Given the description of an element on the screen output the (x, y) to click on. 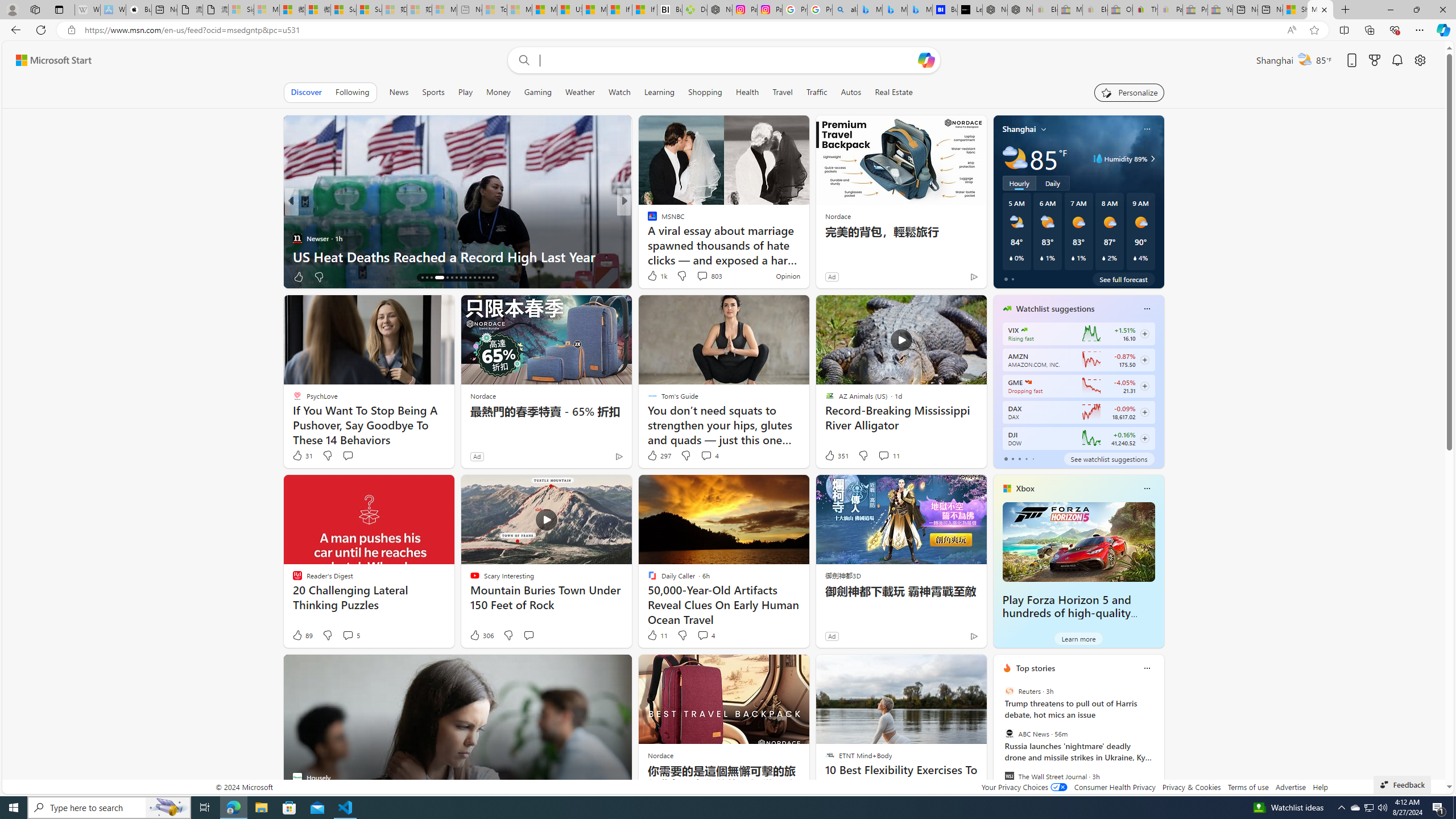
Nordace - Nordace Edin Collection (718, 9)
Newser (296, 238)
Your Privacy Choices (1024, 786)
tab-3 (1025, 458)
View comments 15 Comment (707, 276)
